Given the description of an element on the screen output the (x, y) to click on. 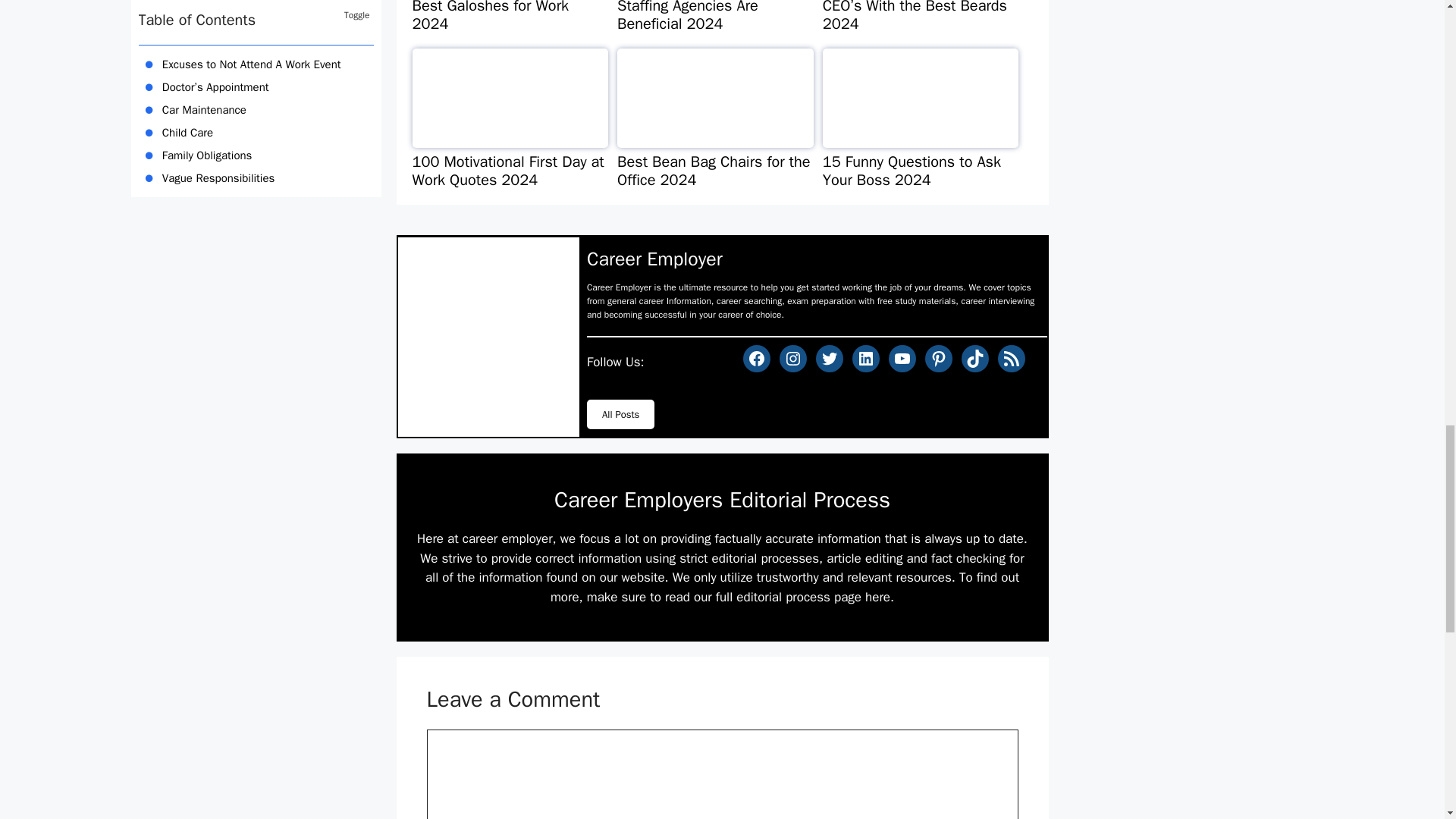
Staffing Agencies Are Beneficial 2024 (715, 24)
15 Funny Questions to Ask Your Boss 2024 (920, 126)
Staffing Agencies Are Beneficial 2024 (715, 24)
Best Galoshes for Work 2024 (510, 24)
Best Galoshes for Work 2024 (510, 24)
100 Motivational First Day at Work Quotes 2024 (510, 126)
Facebook (756, 358)
Best Bean Bag Chairs for the Office 2024 (715, 126)
100 Motivational First Day at Work Quotes 2024 (510, 126)
